Given the description of an element on the screen output the (x, y) to click on. 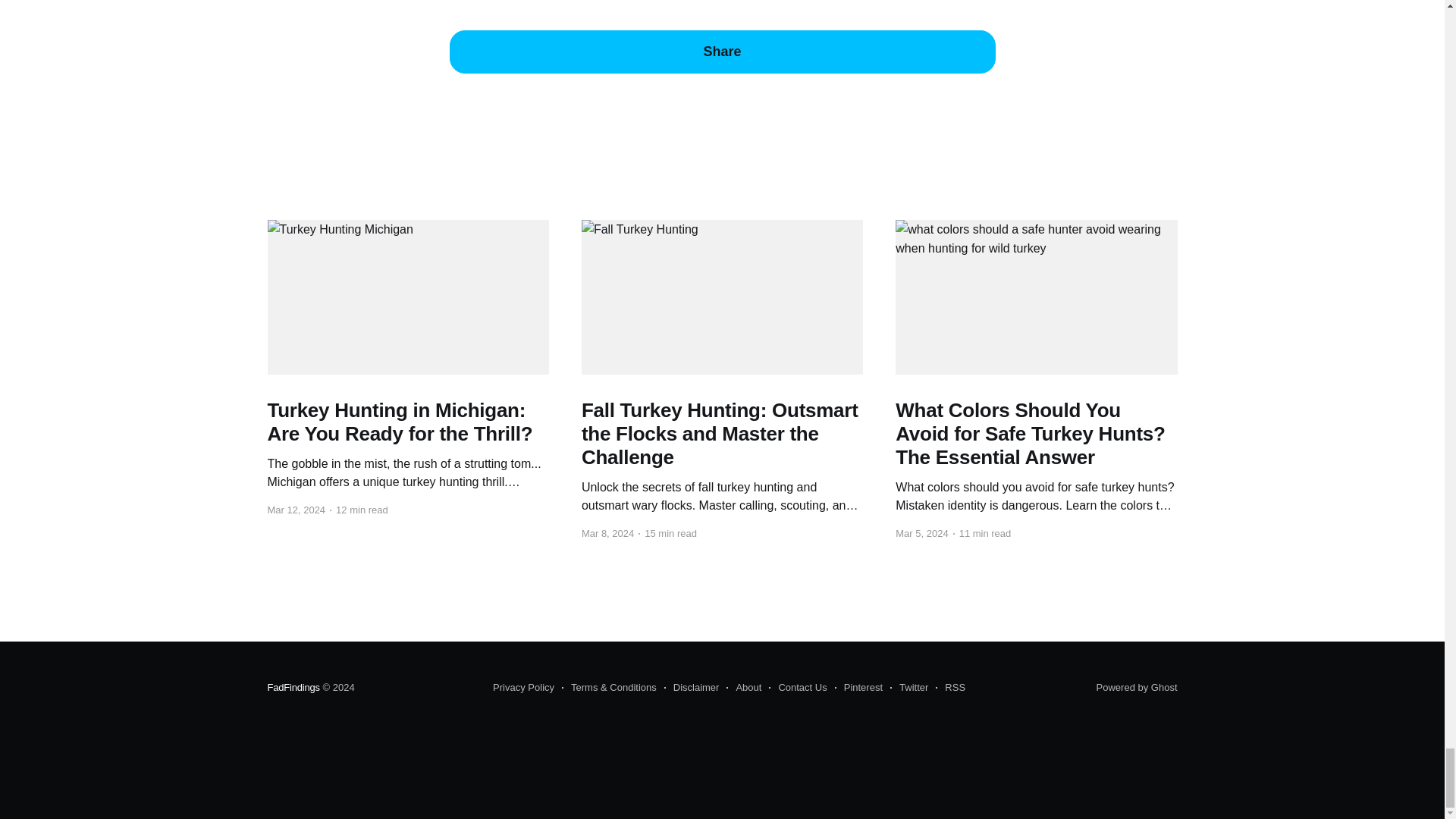
Share (721, 52)
